Given the description of an element on the screen output the (x, y) to click on. 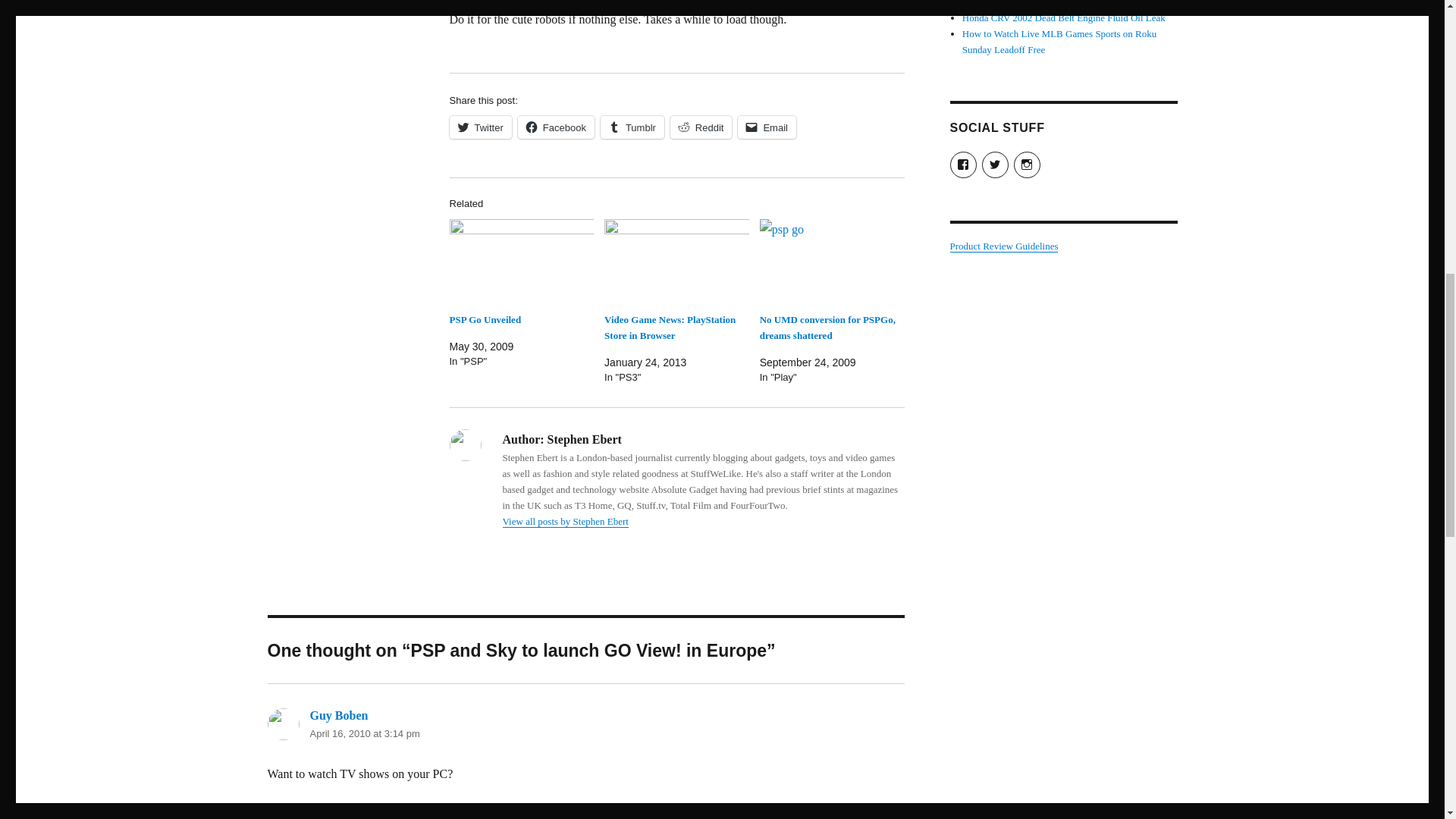
Click to share on Facebook (556, 127)
Video Game News: PlayStation Store in Browser (669, 327)
No UMD conversion for PSPGo, dreams shattered (827, 327)
Email (767, 127)
Twitter (479, 127)
Click to share on Reddit (700, 127)
Click to email a link to a friend (767, 127)
Click to share on Twitter (479, 127)
No UMD conversion for PSPGo, dreams shattered (827, 327)
Click to share on Tumblr (631, 127)
Guy Boben (338, 715)
Video Game News: PlayStation Store in Browser (669, 327)
PSP Go Unveiled (484, 319)
View all posts by Stephen Ebert (564, 521)
PSP Go Unveiled (521, 260)
